Given the description of an element on the screen output the (x, y) to click on. 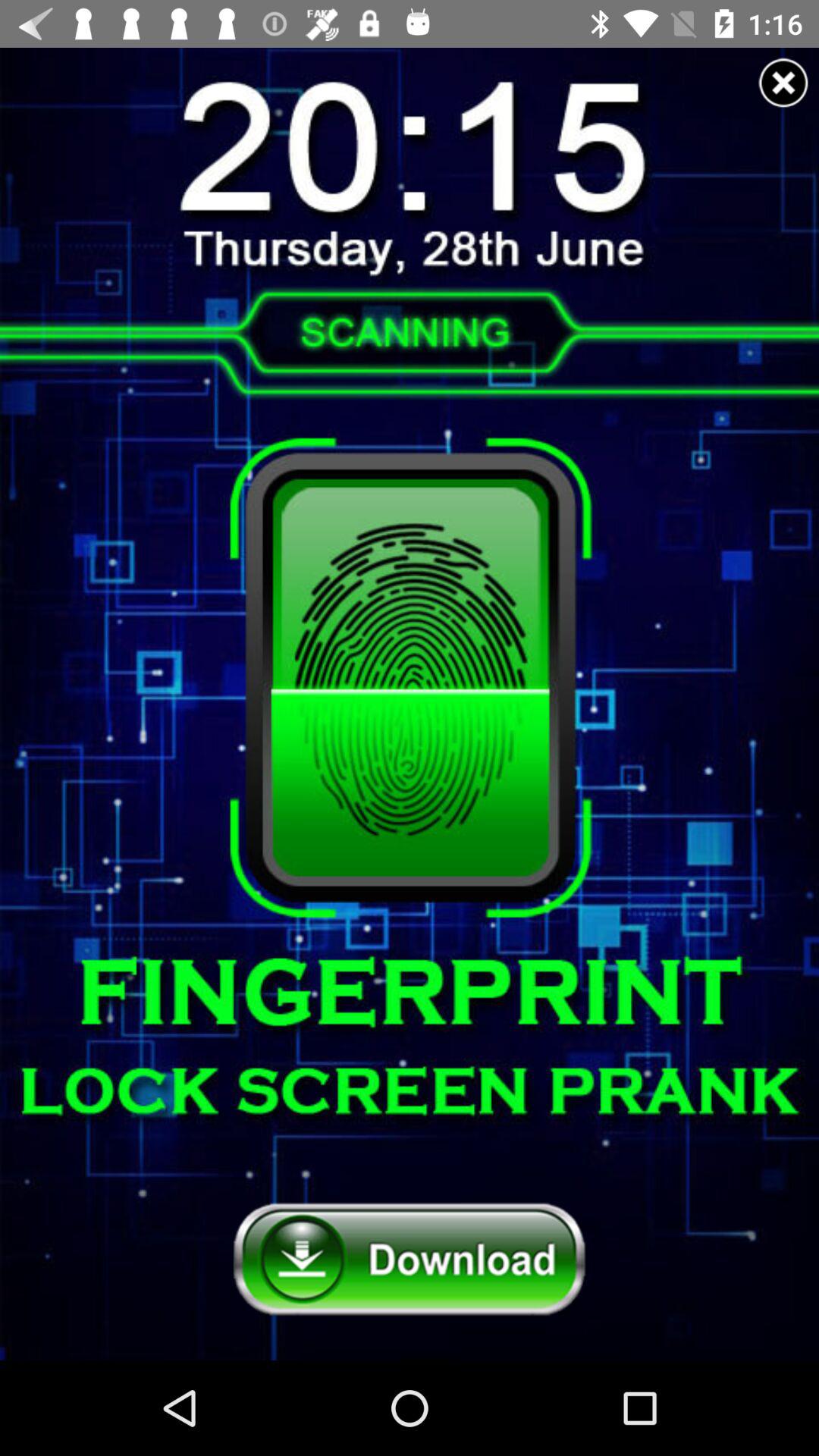
downnloads the app (409, 1260)
